Given the description of an element on the screen output the (x, y) to click on. 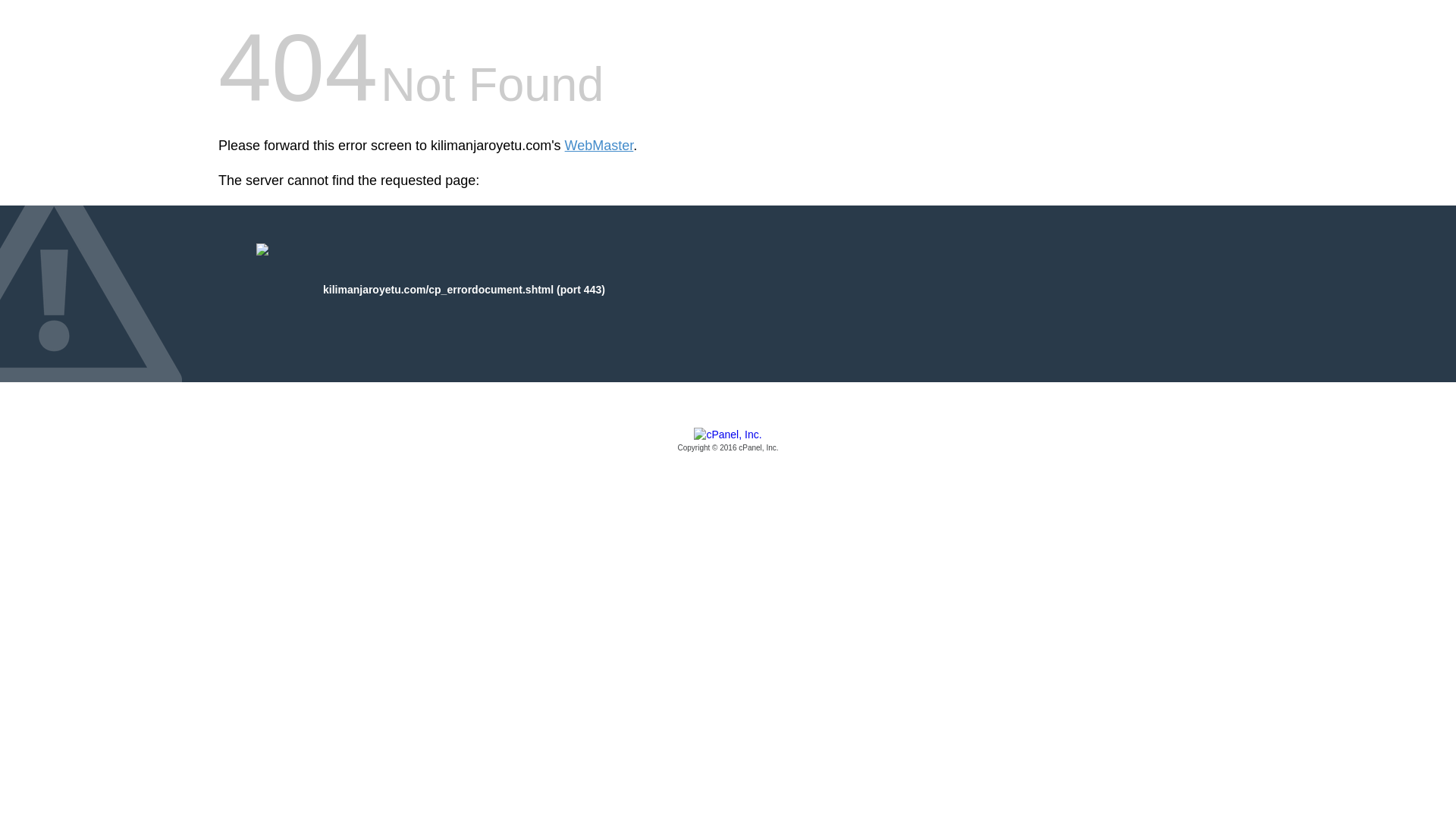
WebMaster (598, 145)
cPanel, Inc. (727, 440)
